Given the description of an element on the screen output the (x, y) to click on. 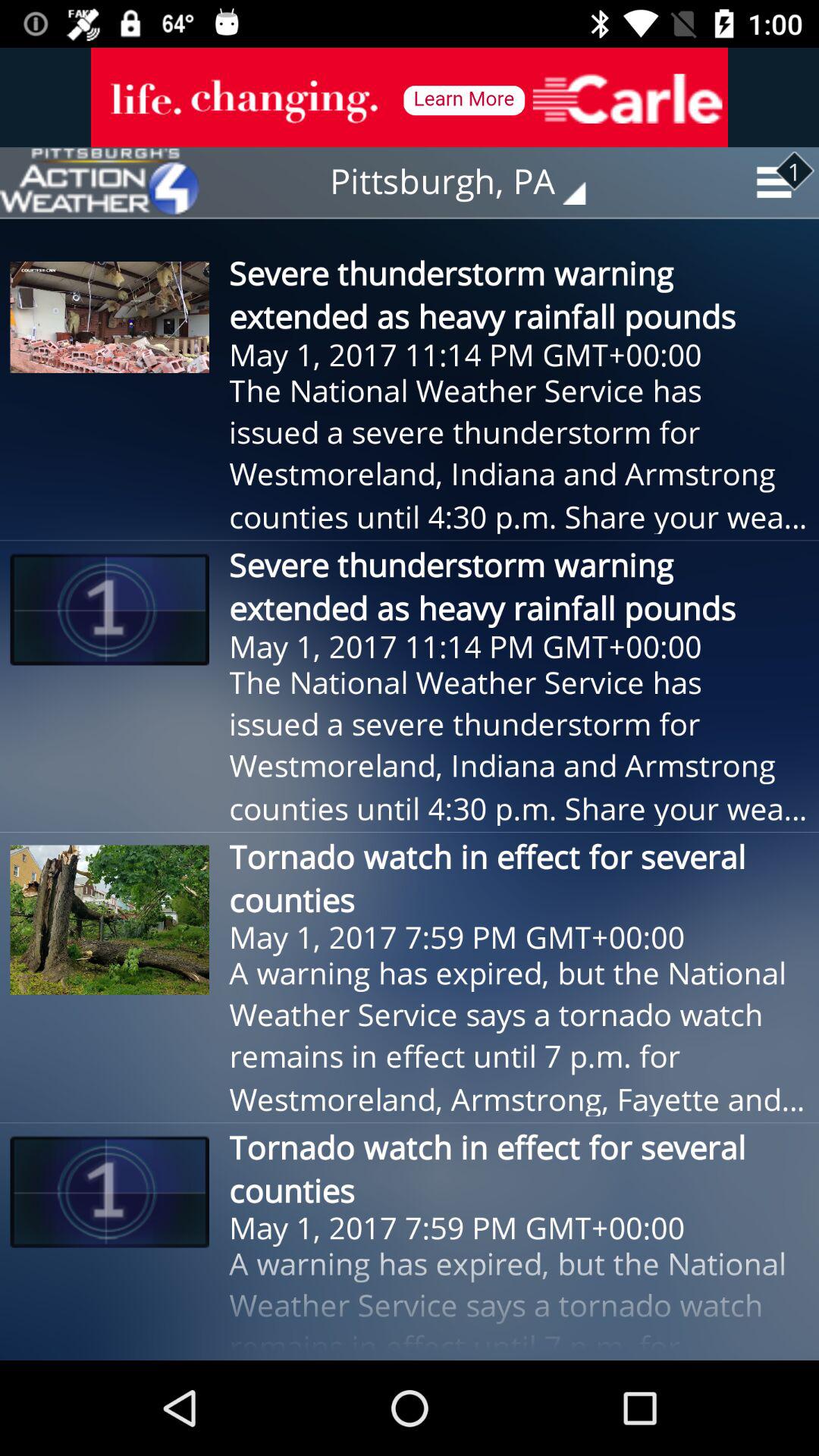
choose the item next to the pittsburgh, pa (99, 182)
